Given the description of an element on the screen output the (x, y) to click on. 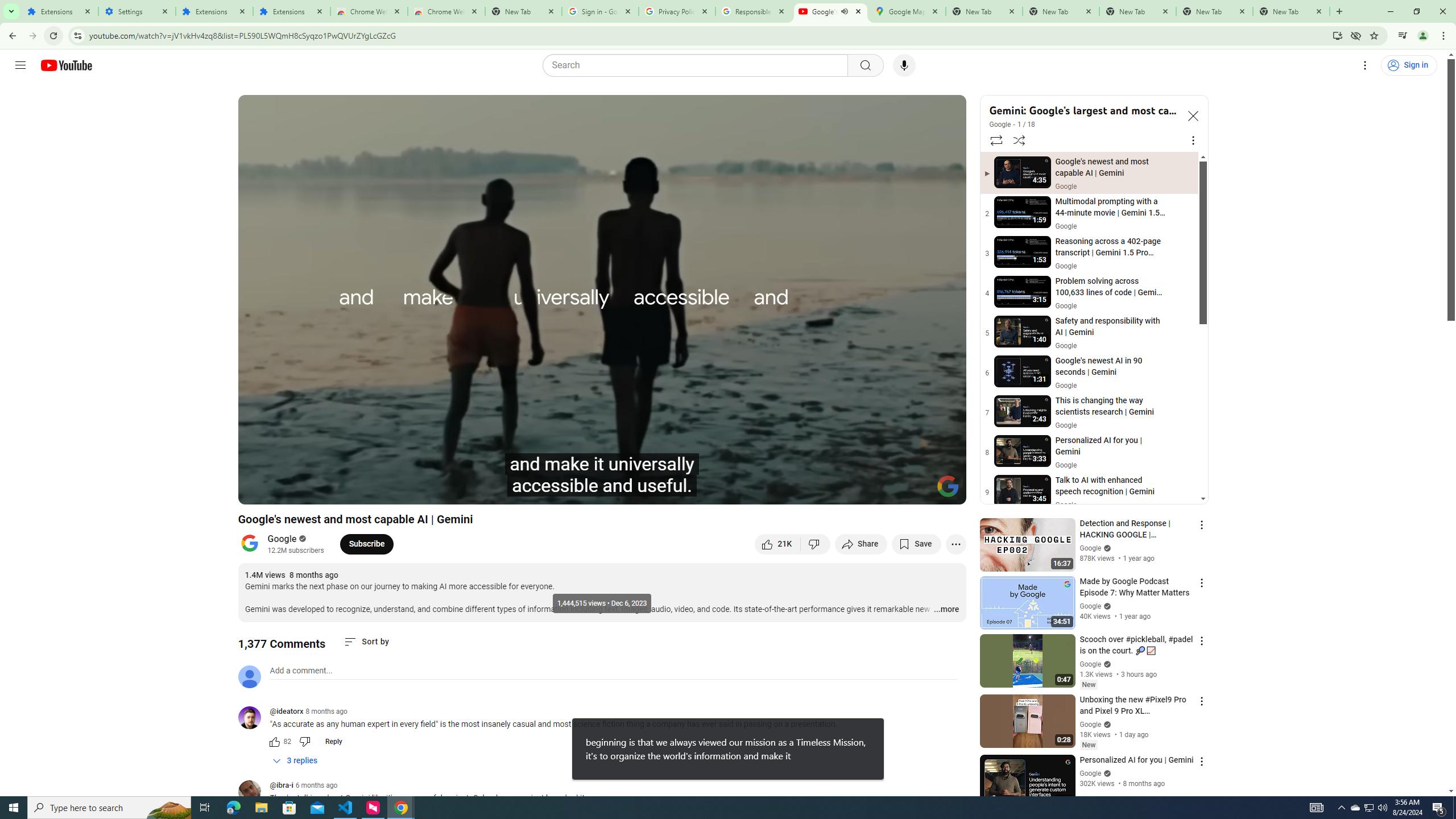
Reply (333, 741)
Search with your voice (903, 65)
New Tab (1291, 11)
Mute (m) (338, 490)
